Given the description of an element on the screen output the (x, y) to click on. 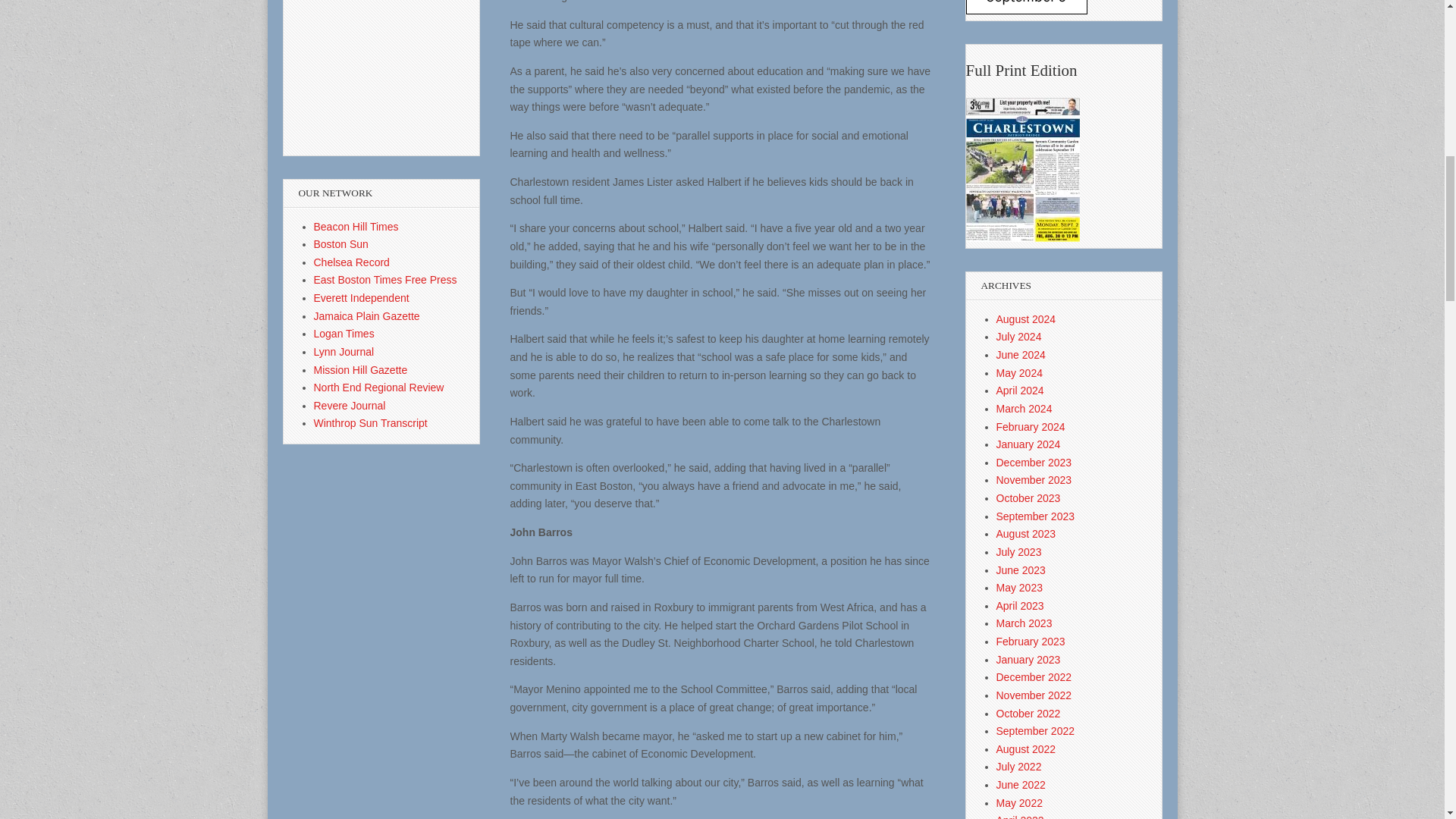
Revere Journal (349, 405)
Lynn Journal (344, 351)
Chelsea Record (352, 262)
Everett Independent (361, 297)
North End Regional Review (379, 387)
Mission Hill Gazette (360, 369)
East Boston Times Free Press (385, 279)
Beacon Hill Times (356, 226)
Jamaica Plain Gazette (367, 316)
Winthrop Sun Transcript (371, 422)
